Given the description of an element on the screen output the (x, y) to click on. 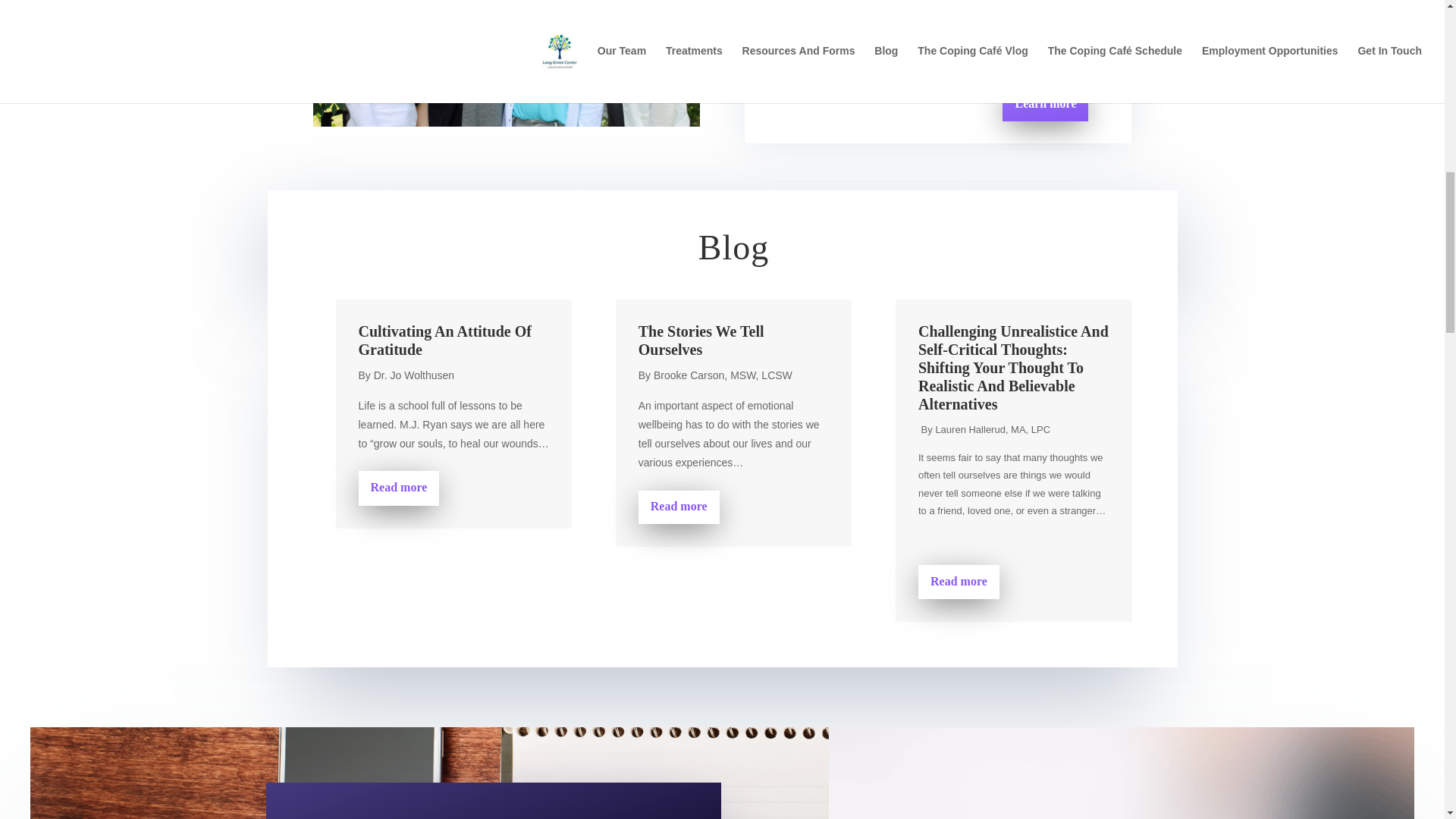
Read more (679, 507)
Learn more (1045, 103)
Read more (958, 581)
Read more (398, 487)
Long Grove Staff (505, 63)
